Given the description of an element on the screen output the (x, y) to click on. 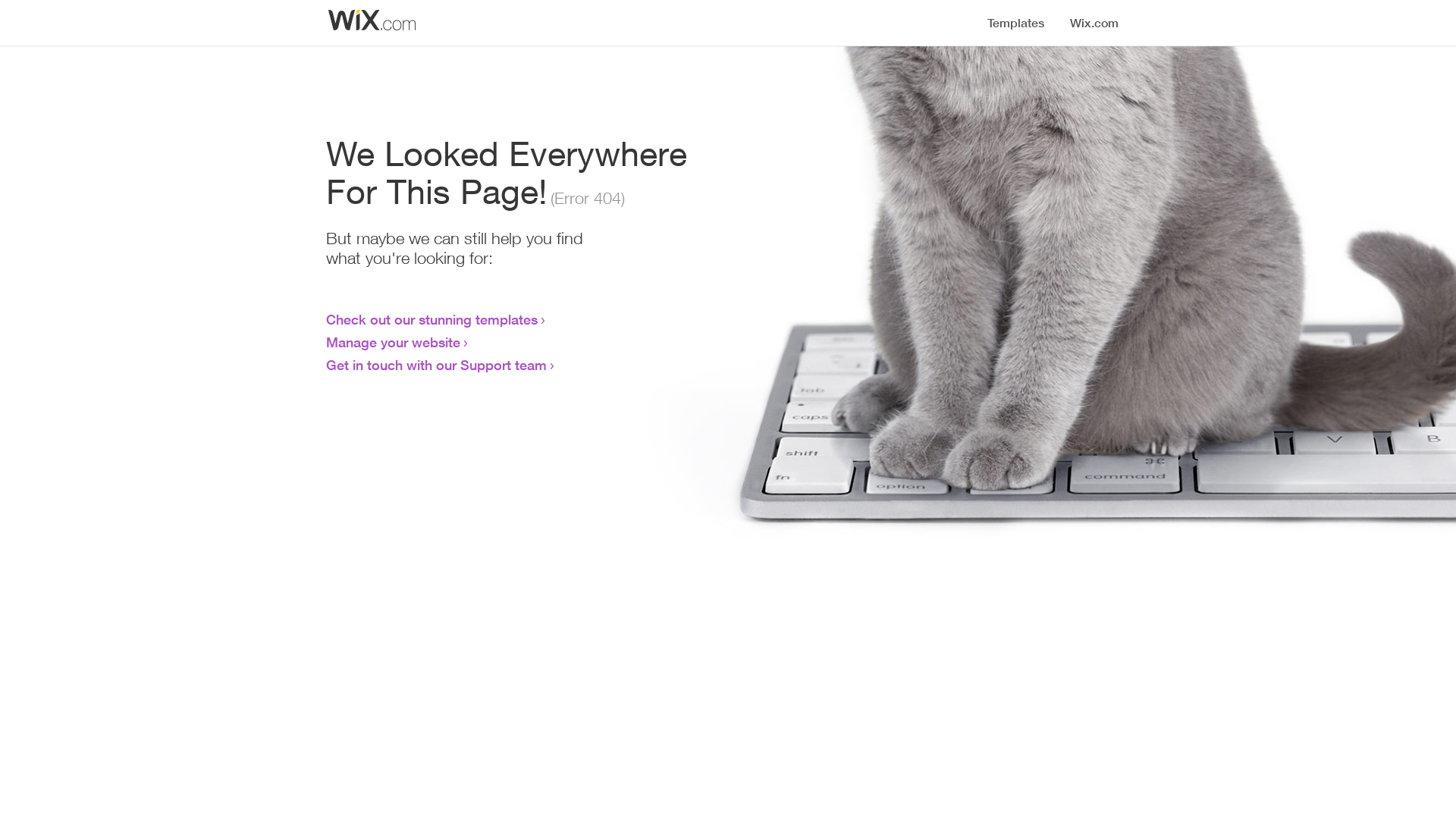
Get in touch with our Support team Element type: text (436, 364)
Check out our stunning templates Element type: text (431, 318)
Manage your website Element type: text (393, 341)
